Given the description of an element on the screen output the (x, y) to click on. 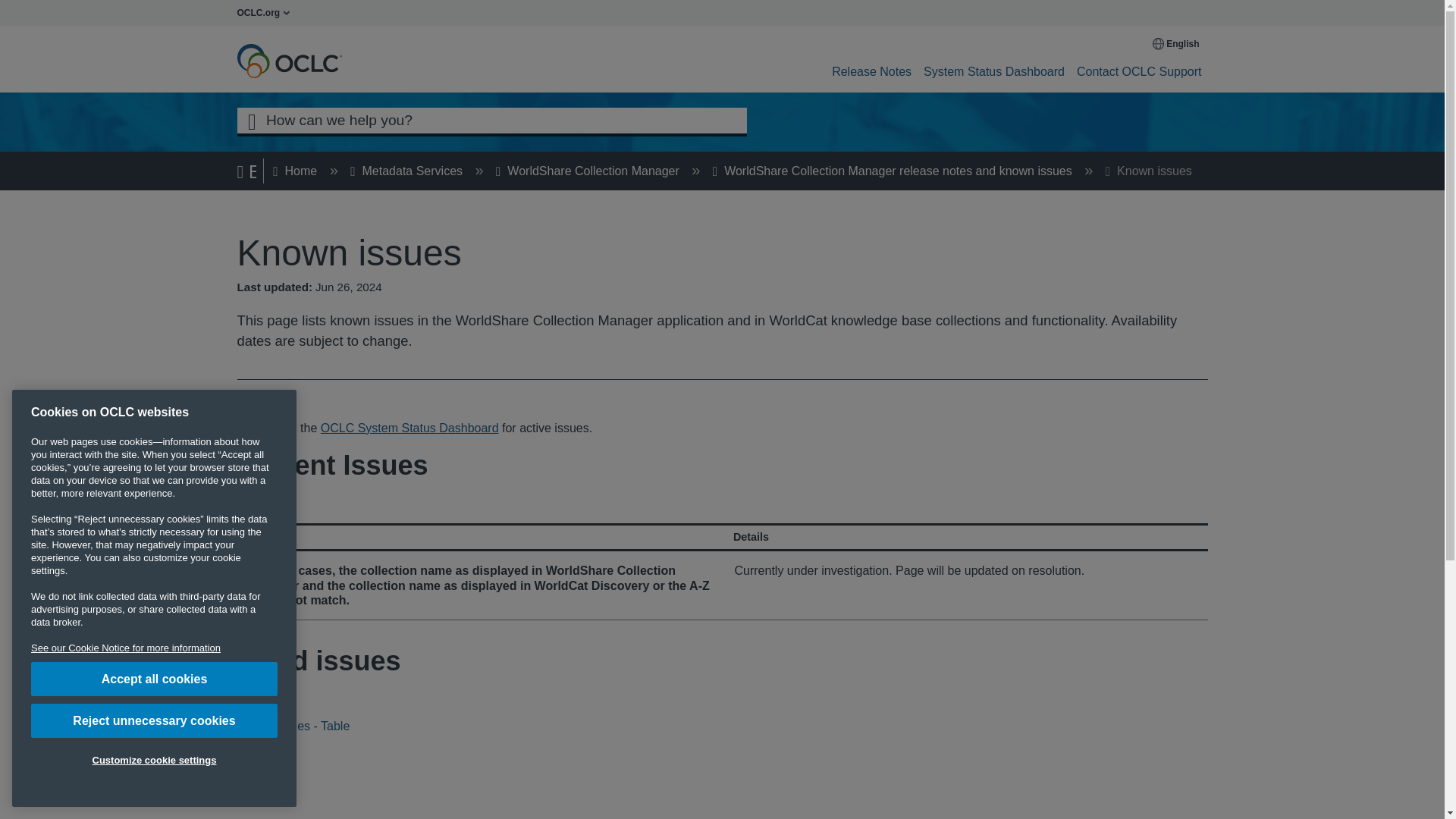
Search (250, 120)
OCLC.org (266, 12)
OCLC System Status Dashboard (409, 427)
OCLC.org Home (266, 12)
WorldShare Collection Manager release notes and known issues (894, 170)
Find release notes for OCLC products and services. (871, 71)
English (1177, 43)
Home (296, 170)
Metadata Services (407, 170)
Contact OCLC Support (1139, 71)
